Given the description of an element on the screen output the (x, y) to click on. 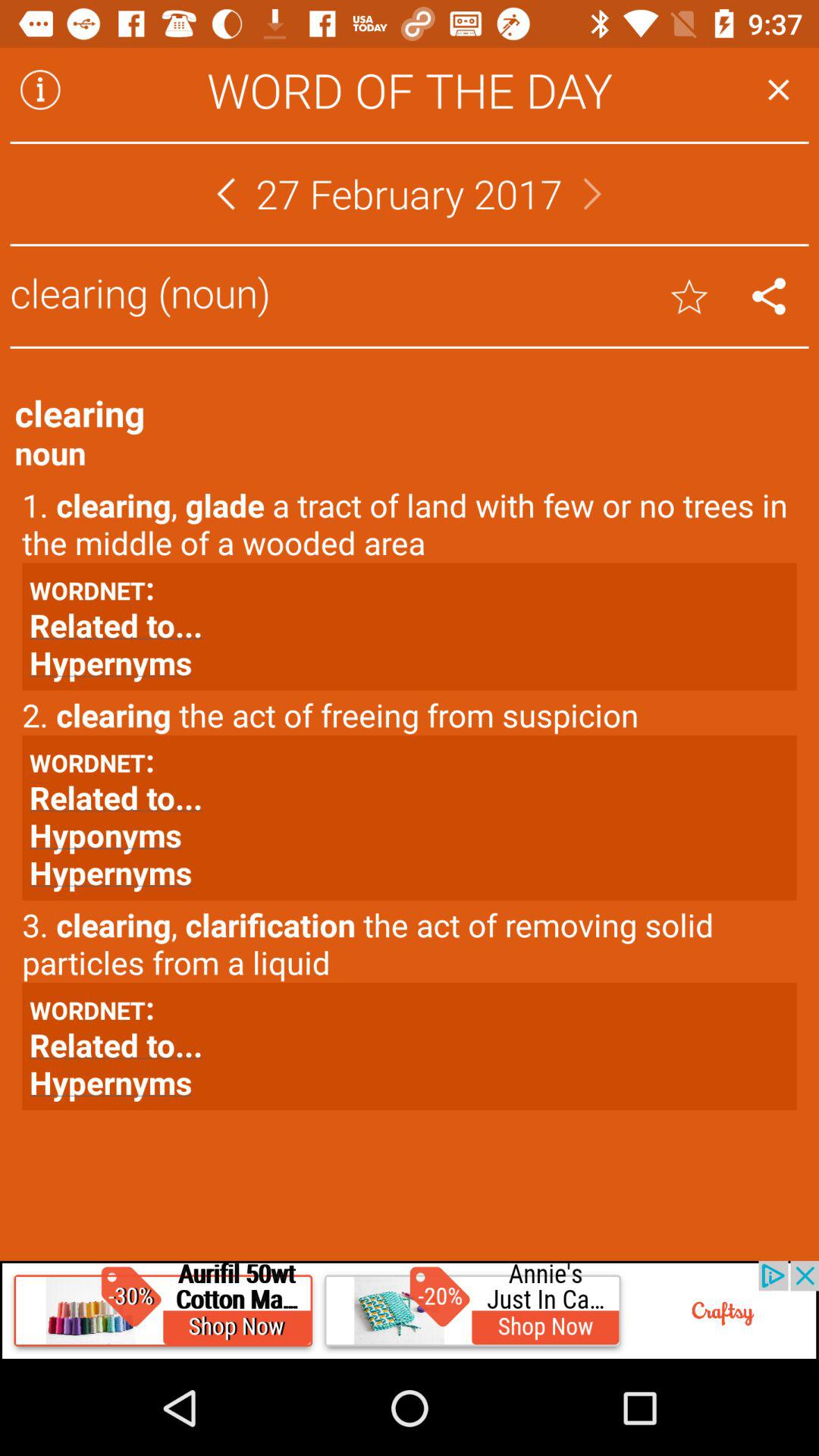
next the option (592, 193)
